Given the description of an element on the screen output the (x, y) to click on. 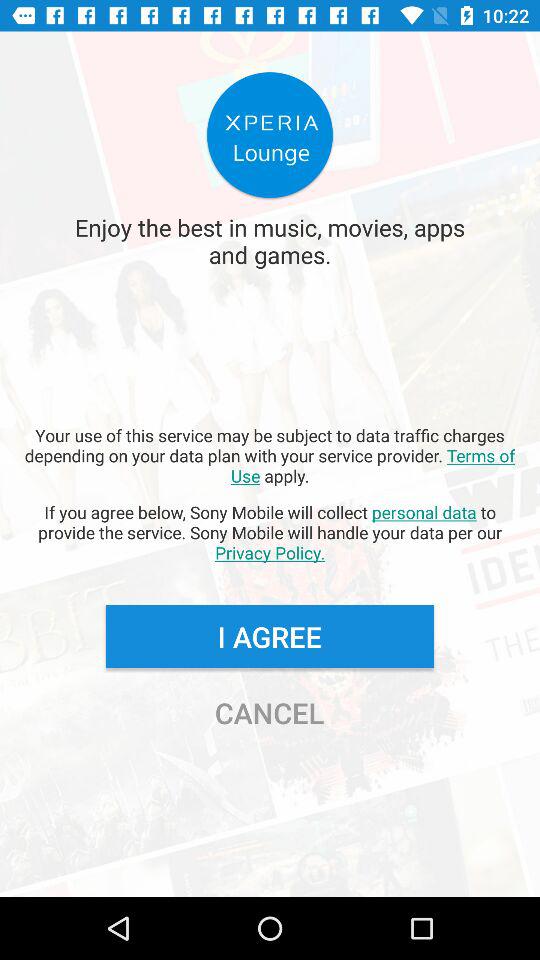
launch the button above cancel button (269, 636)
